Given the description of an element on the screen output the (x, y) to click on. 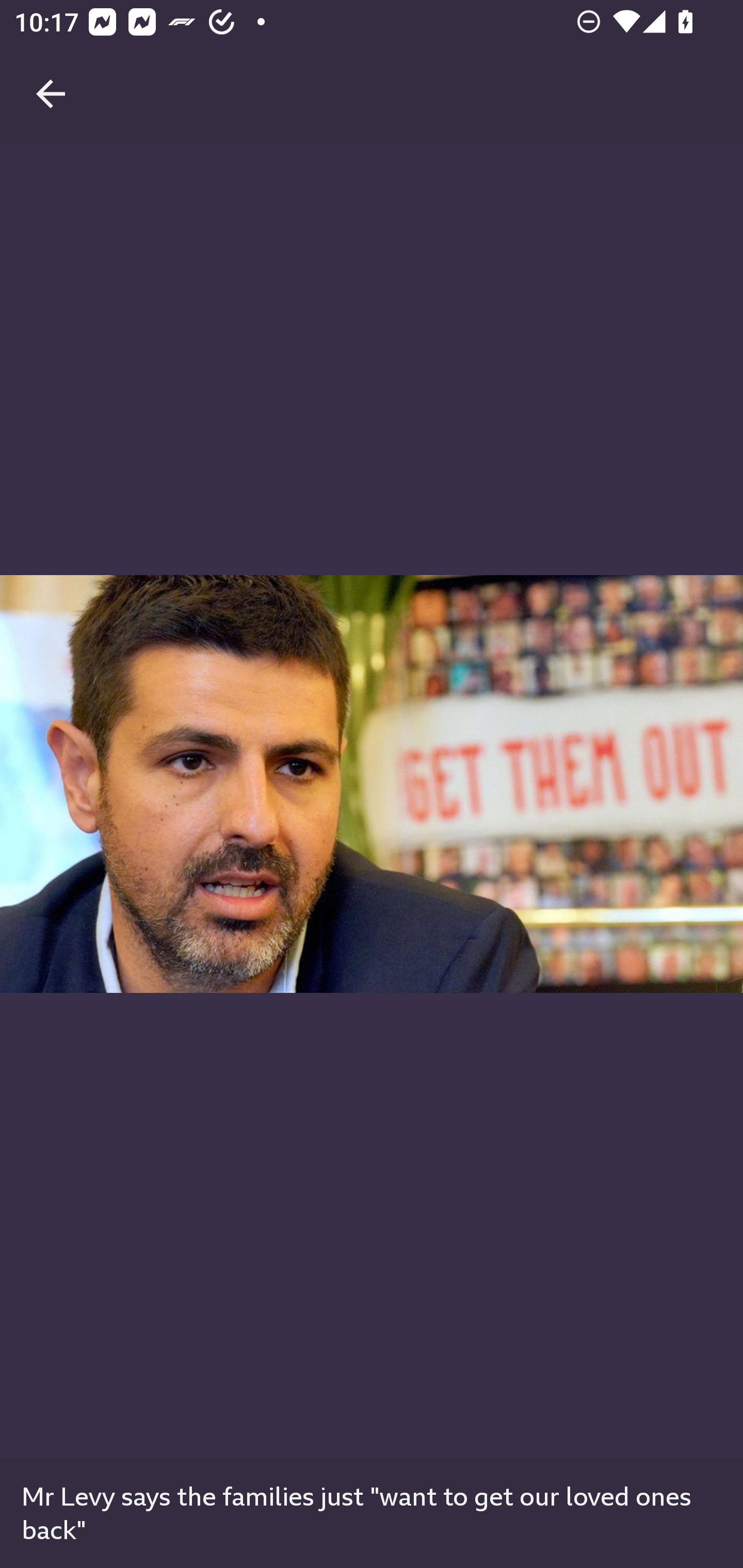
Back (50, 72)
